Given the description of an element on the screen output the (x, y) to click on. 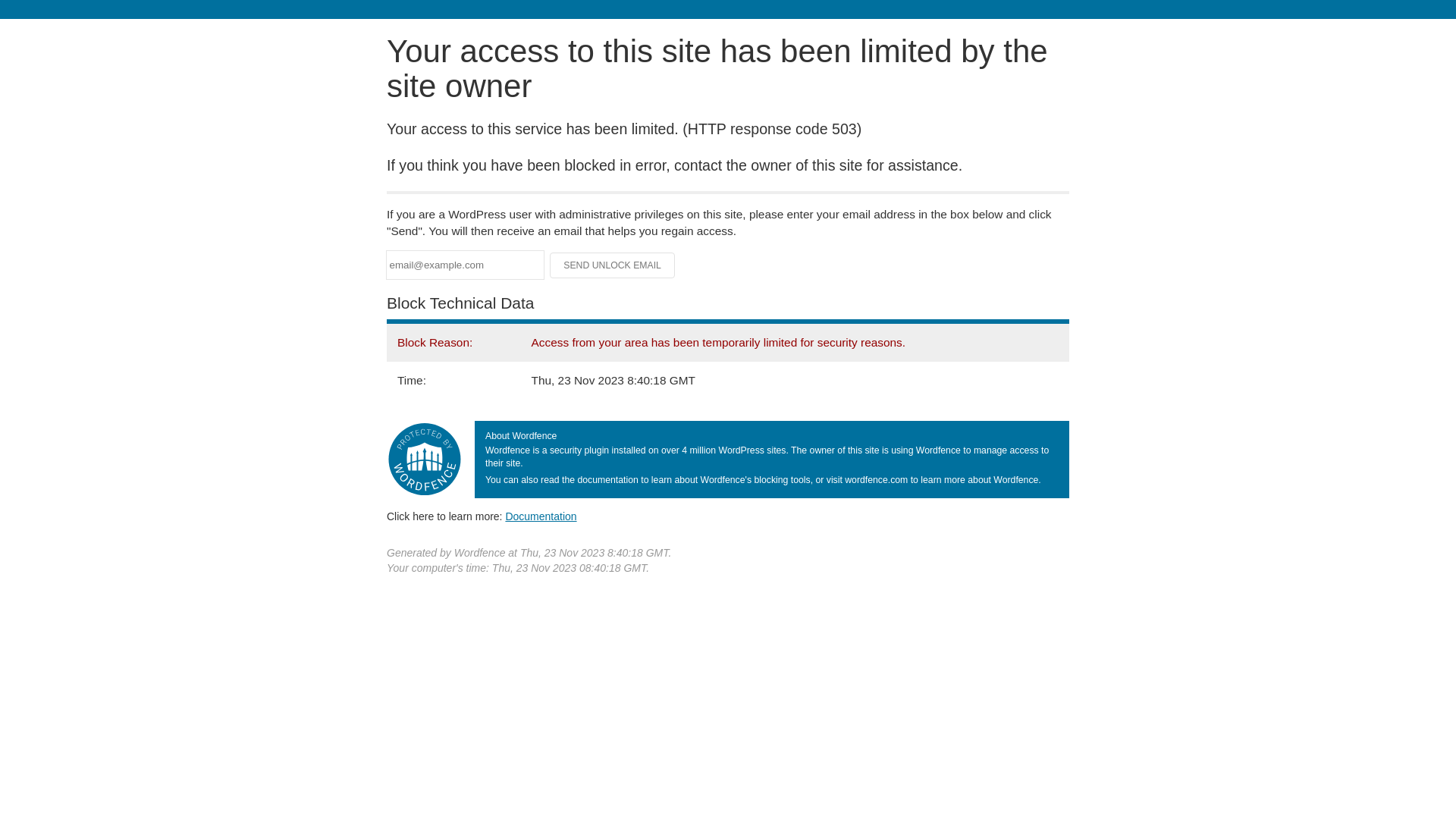
Send Unlock Email Element type: text (612, 265)
Documentation Element type: text (540, 516)
